Given the description of an element on the screen output the (x, y) to click on. 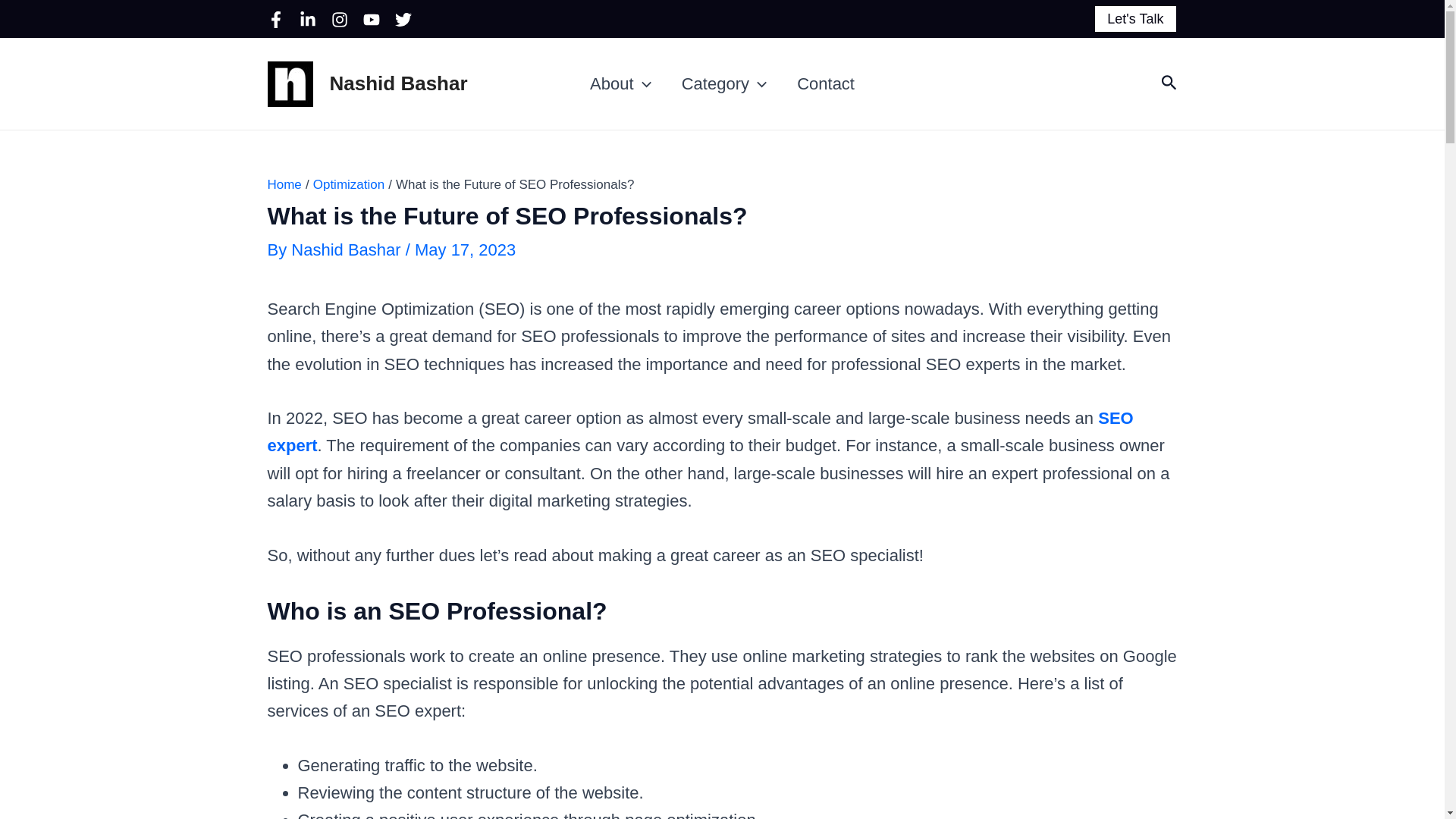
Let's Talk (1134, 18)
Nashid Bashar (398, 83)
Category (723, 83)
Contact (825, 83)
About (620, 83)
View all posts by Nashid Bashar (347, 249)
